Given the description of an element on the screen output the (x, y) to click on. 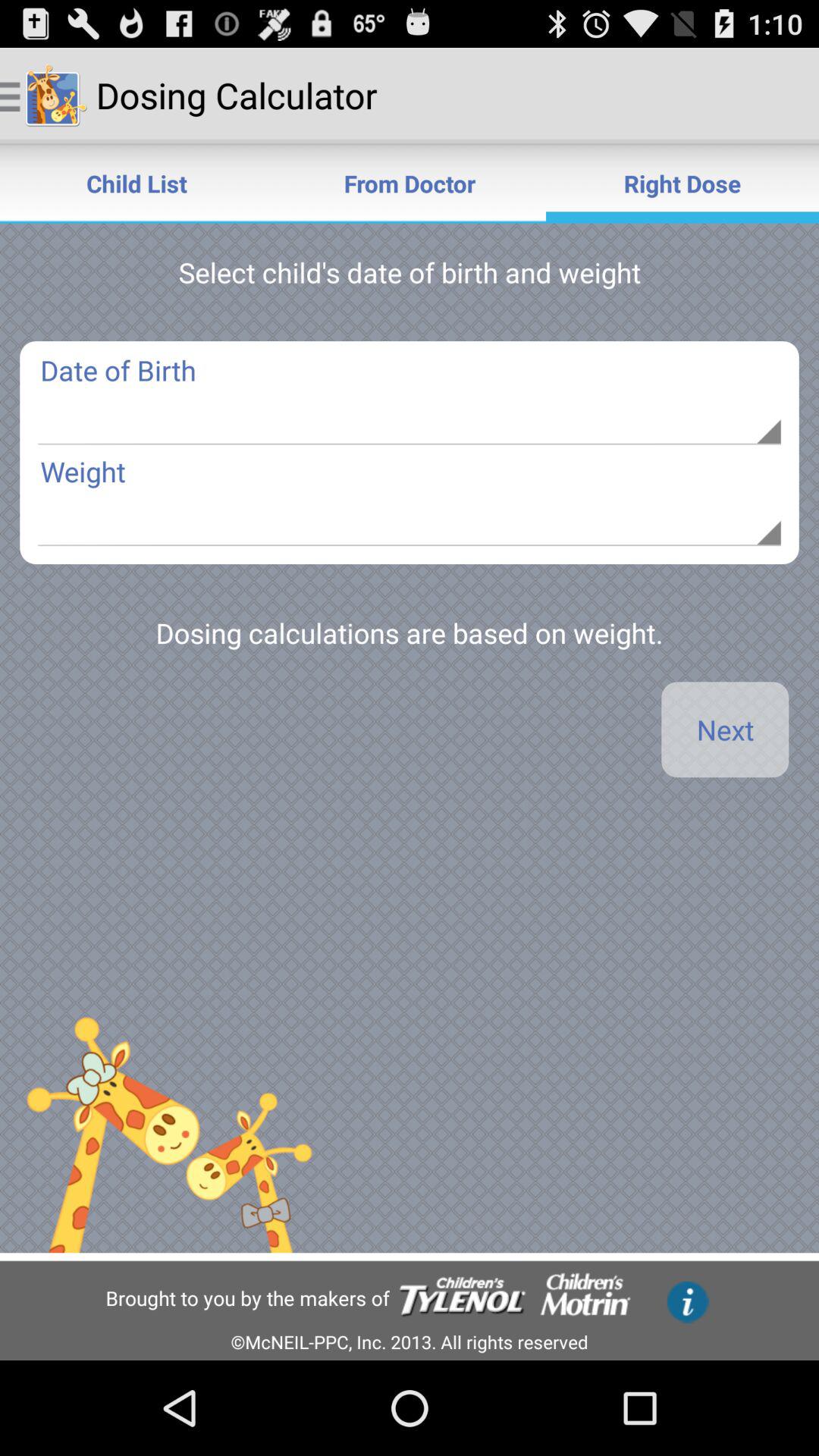
jump to next icon (724, 729)
